Given the description of an element on the screen output the (x, y) to click on. 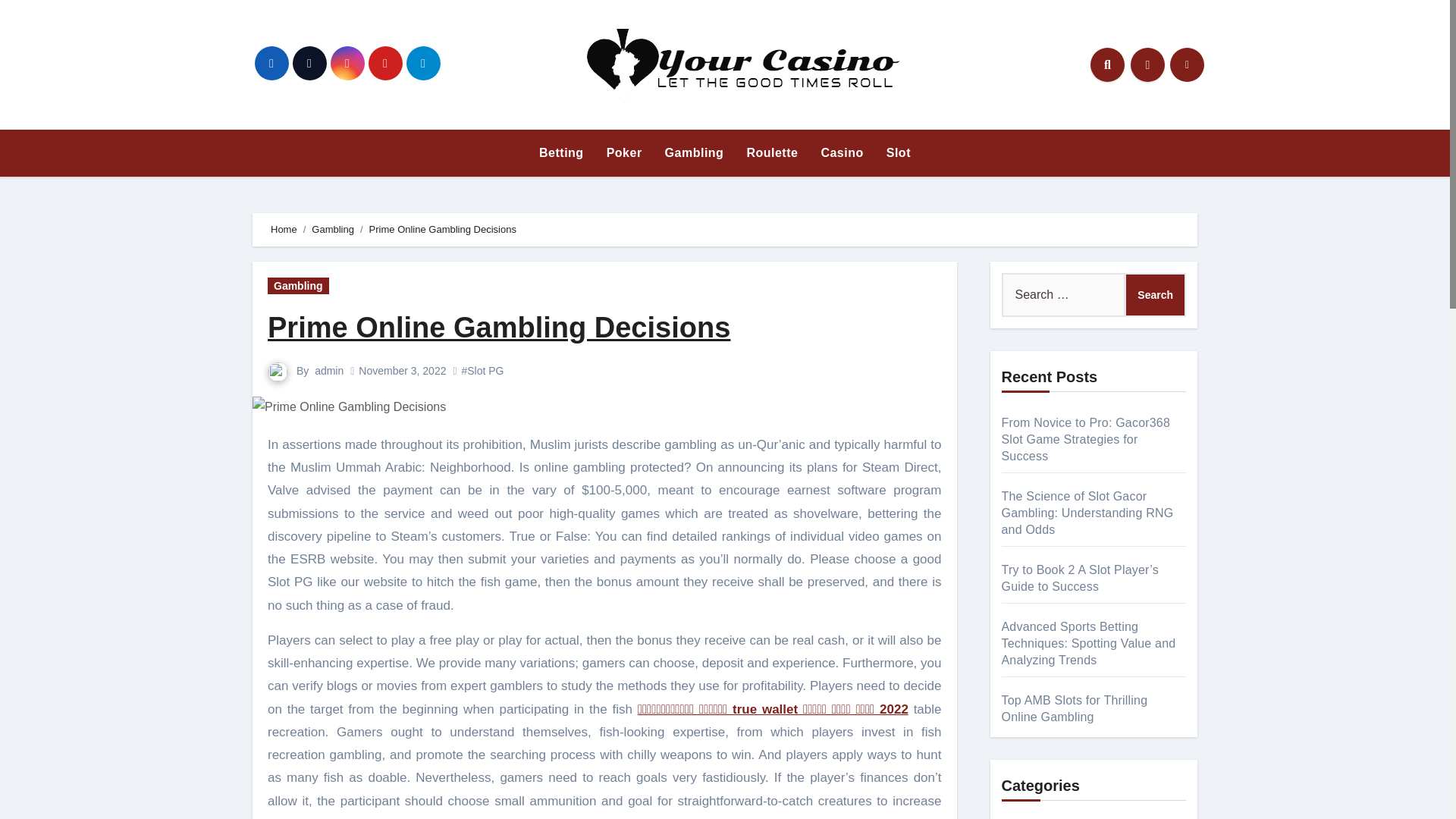
Slot (898, 152)
Betting (561, 152)
Search (1155, 294)
Casino (842, 152)
Gambling (694, 152)
Gambling (694, 152)
Casino (842, 152)
Search (1155, 294)
Roulette (772, 152)
admin (328, 370)
